Given the description of an element on the screen output the (x, y) to click on. 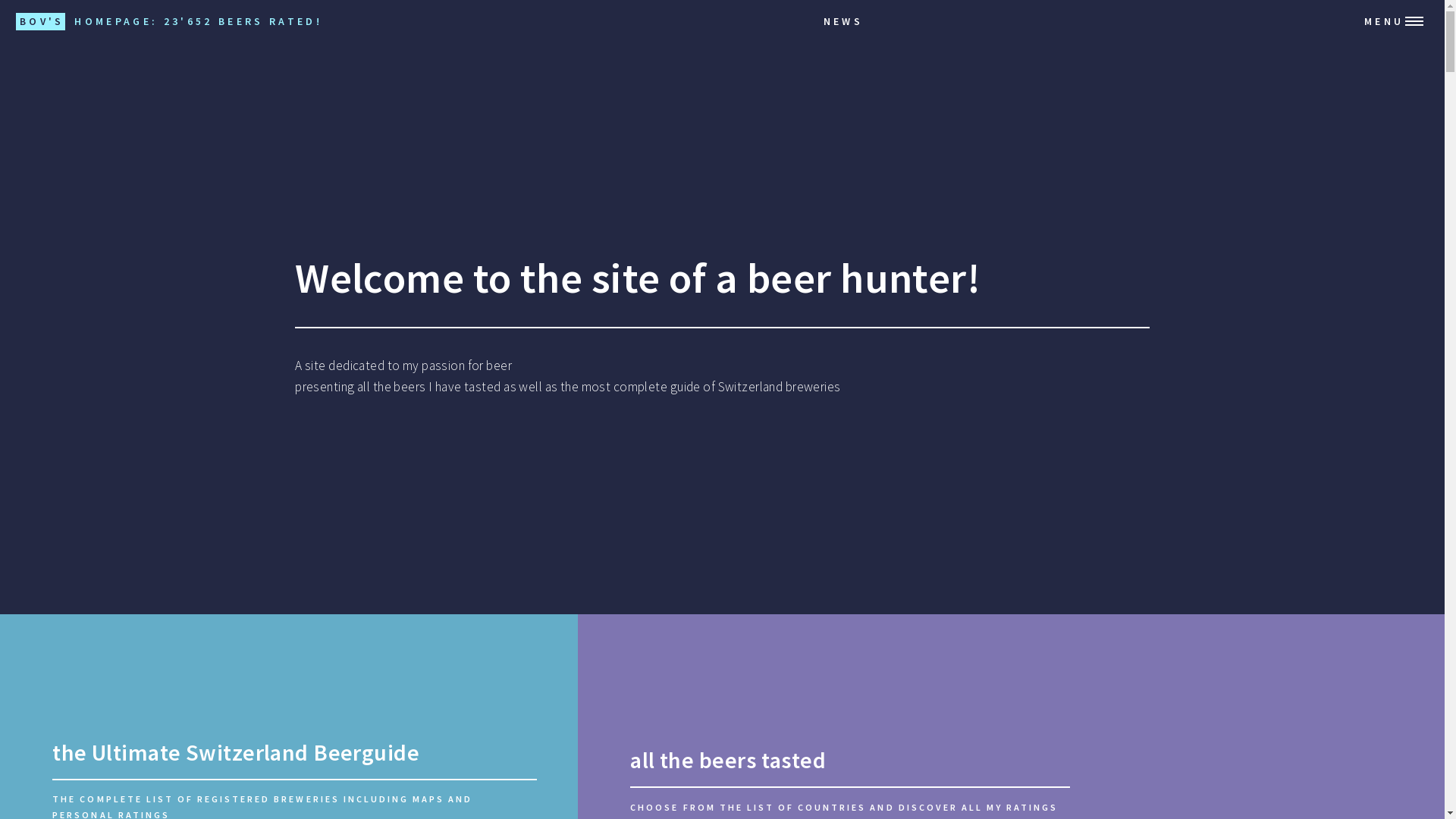
Welcome to the site of a beer hunter! Element type: text (637, 277)
all the beers tasted Element type: text (727, 759)
the Ultimate Switzerland Beerguide Element type: text (235, 751)
BOV'S HOMEPAGE: 23'652 BEERS RATED! Element type: text (169, 21)
NEWS Element type: text (846, 21)
MENU Element type: text (1400, 21)
